Given the description of an element on the screen output the (x, y) to click on. 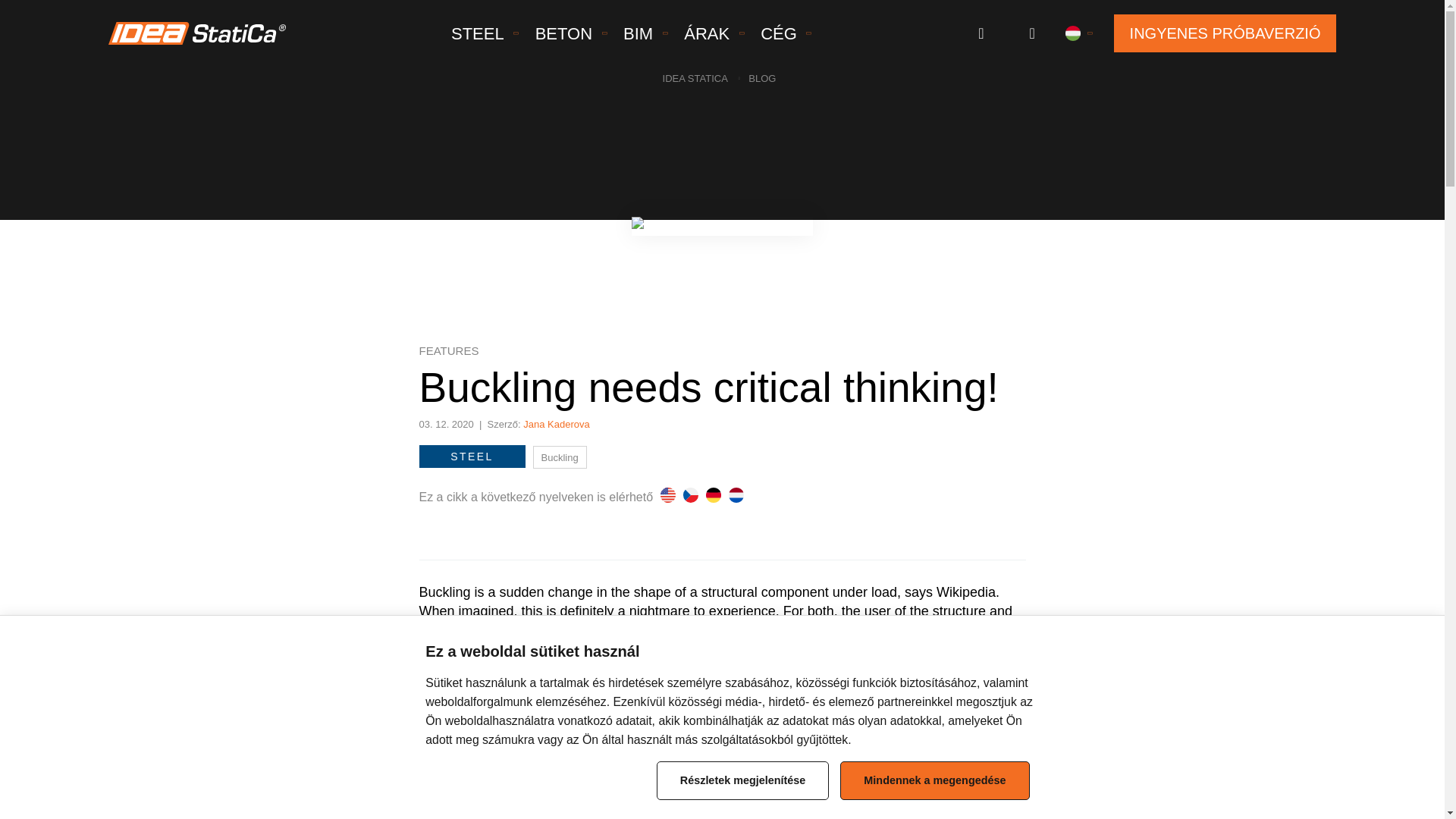
Beton (563, 33)
BETON (563, 33)
Portal (981, 33)
Steel (478, 33)
STEEL (478, 33)
